Given the description of an element on the screen output the (x, y) to click on. 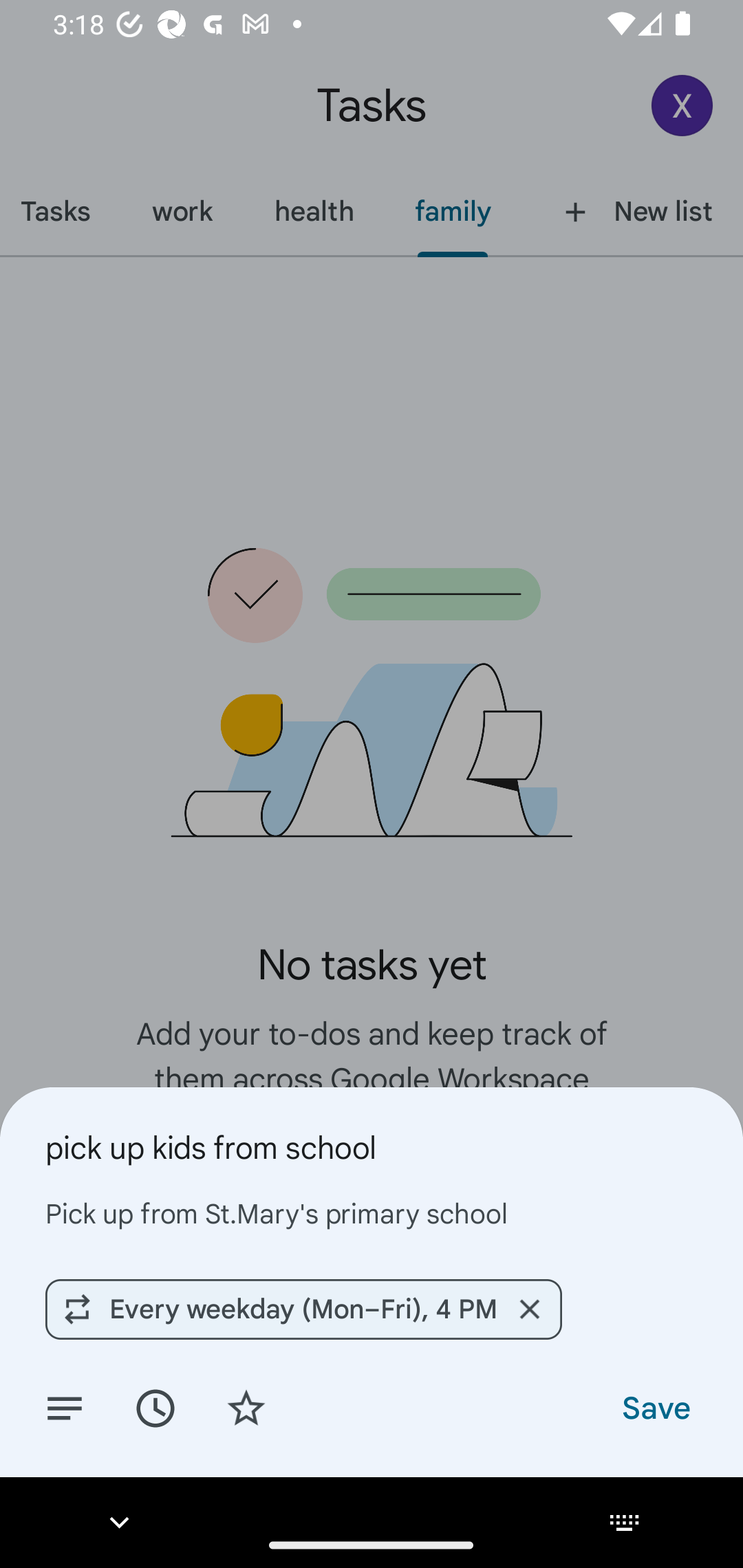
pick up kids from school (371, 1147)
Pick up from St.Mary's primary school (371, 1213)
Save (655, 1407)
Add details (64, 1407)
Set date/time (154, 1407)
Add star (245, 1407)
